Given the description of an element on the screen output the (x, y) to click on. 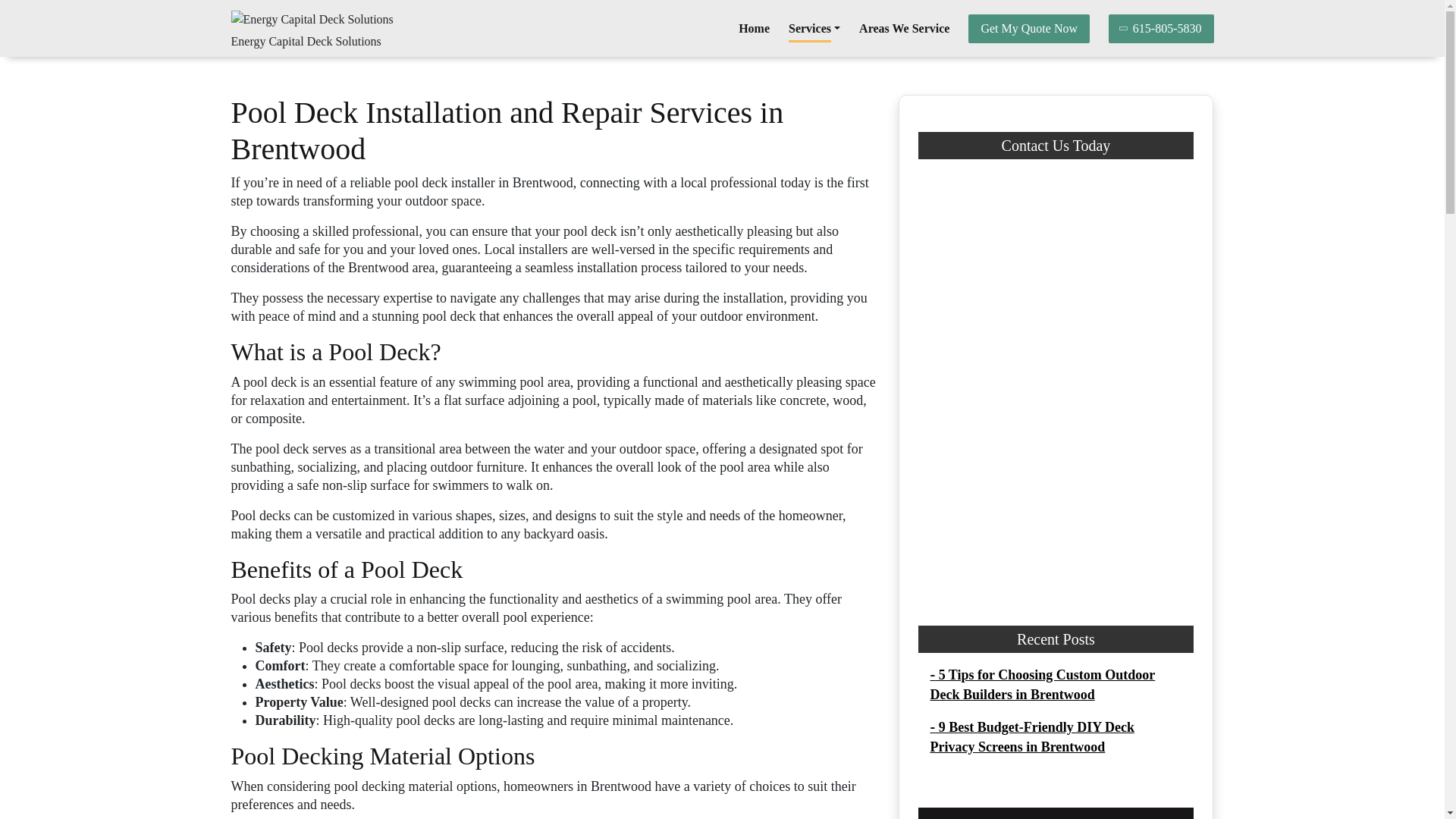
Home (754, 28)
Energy Capital Deck Solutions (305, 41)
Areas We Service (904, 28)
615-805-5830 (1161, 28)
Home (754, 28)
Get My Quote Now (1028, 28)
Services (814, 28)
Services (814, 28)
Areas We Service (904, 28)
